Given the description of an element on the screen output the (x, y) to click on. 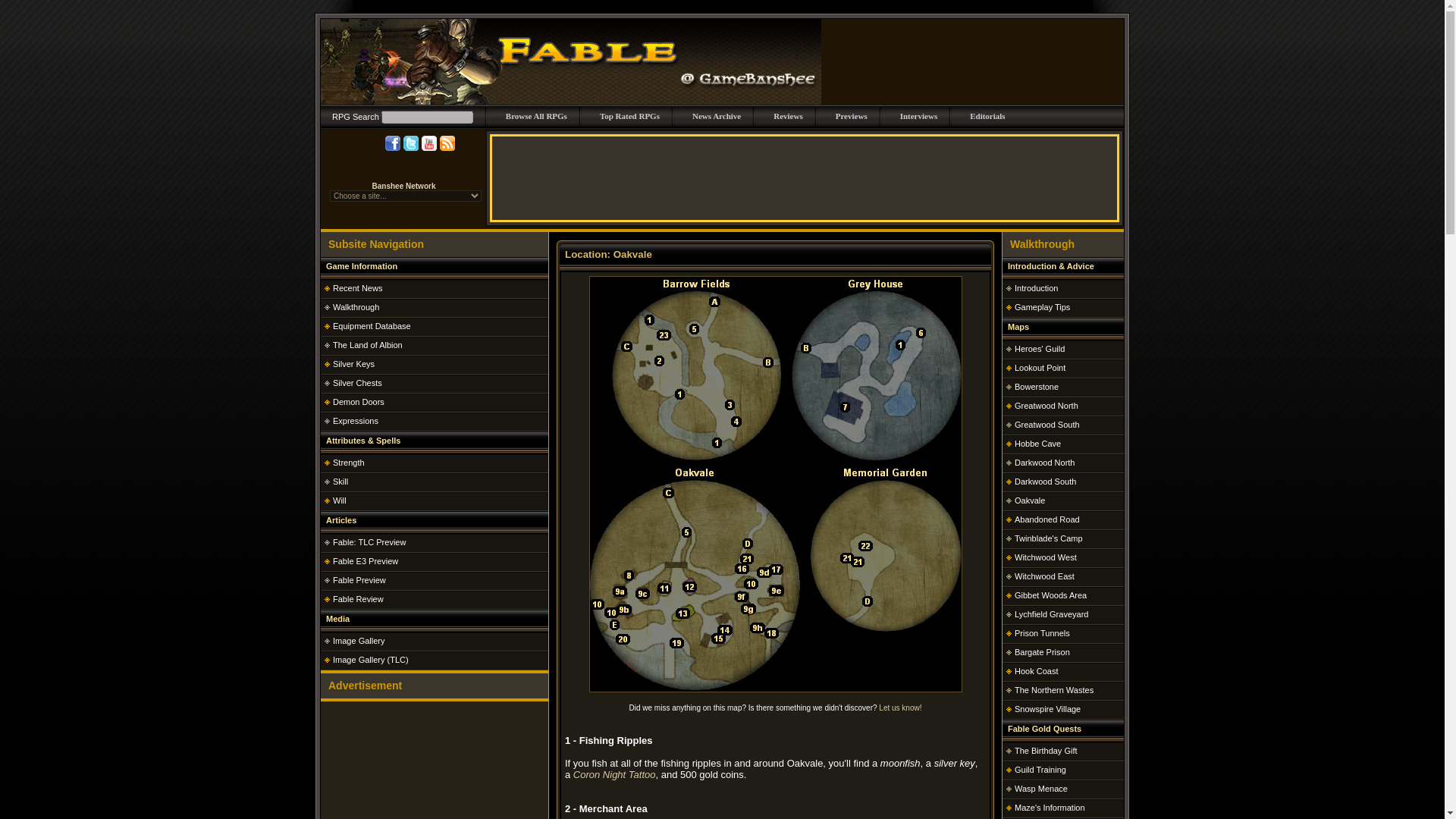
Let us know! (900, 707)
News Archive (717, 115)
Recent News (357, 287)
Walkthrough (355, 307)
Will (339, 500)
Browse All RPGs (536, 115)
Fable E3 Preview (365, 560)
Coron Night Tattoo (614, 774)
Expressions (355, 420)
Fable Preview (359, 579)
Fable Review (358, 598)
Silver Keys (353, 363)
Equipment Database (371, 325)
The Land of Albion (368, 344)
Silver Chests (357, 382)
